Given the description of an element on the screen output the (x, y) to click on. 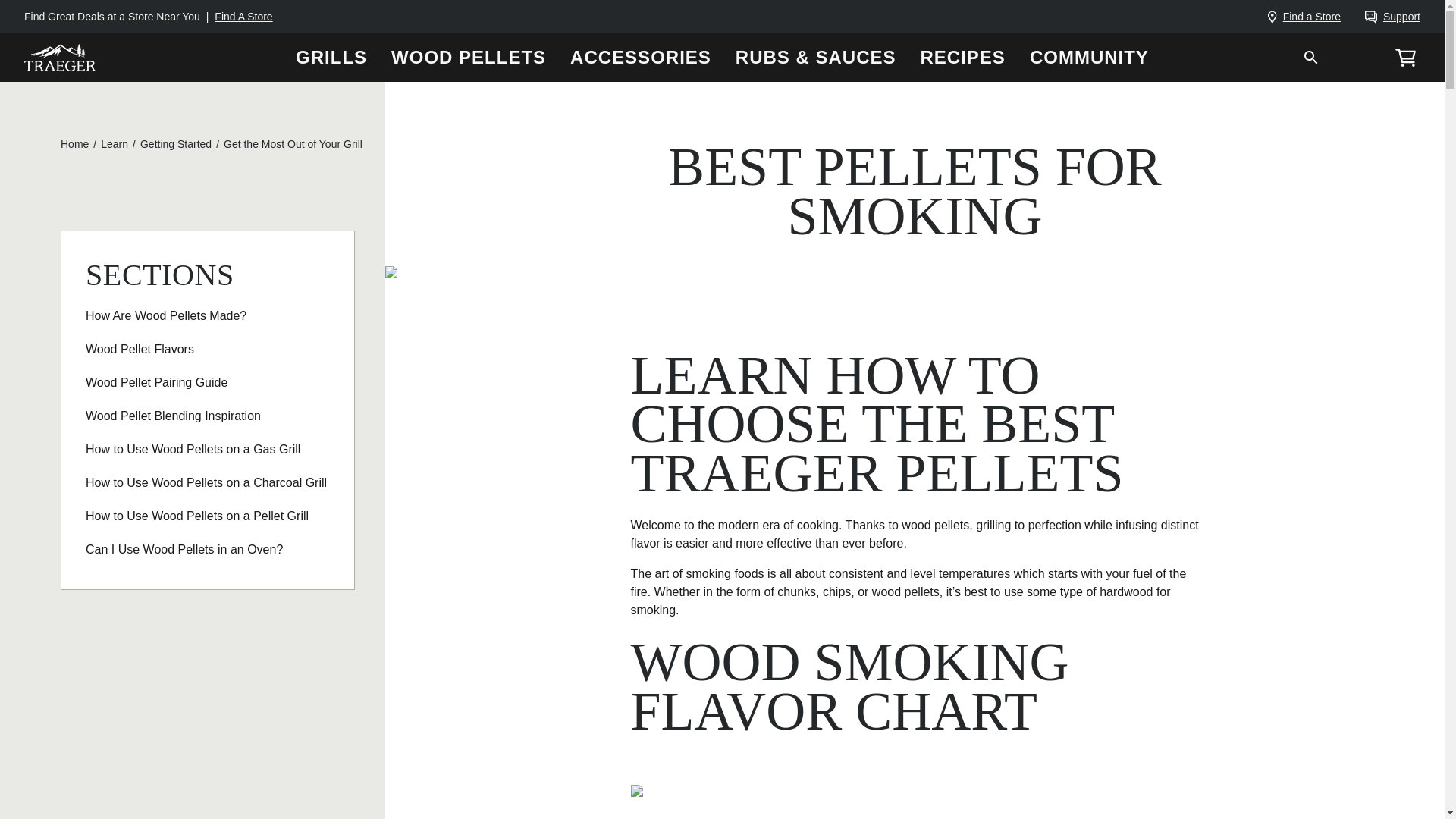
GRILLS (330, 58)
Traeger Home (60, 56)
Learn (114, 144)
Support (1393, 17)
Getting Started (175, 144)
Opens in a new tab (1393, 17)
Find A Store (243, 16)
Find a Store (1304, 17)
WOOD PELLETS (467, 58)
Get the Most Out of Your Grill (293, 144)
Opens in a new tab (74, 144)
Find A Store (243, 16)
Find a Store (1304, 17)
